Given the description of an element on the screen output the (x, y) to click on. 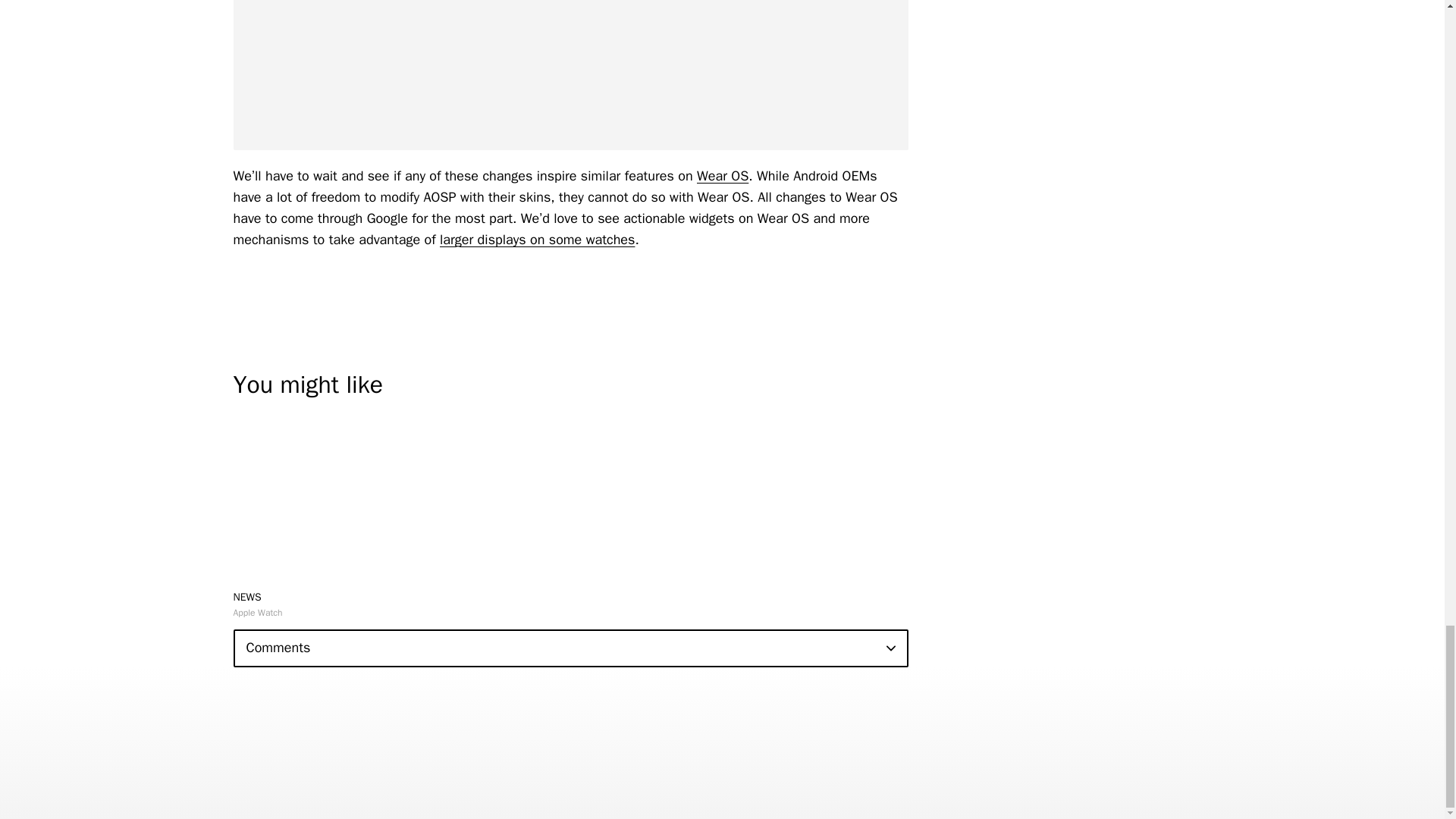
Comments (570, 648)
Wear OS (722, 175)
WatchOS 10 on Apple Watch 4 (570, 74)
NEWS (247, 596)
larger displays on some watches (536, 239)
Apple Watch (257, 612)
